Given the description of an element on the screen output the (x, y) to click on. 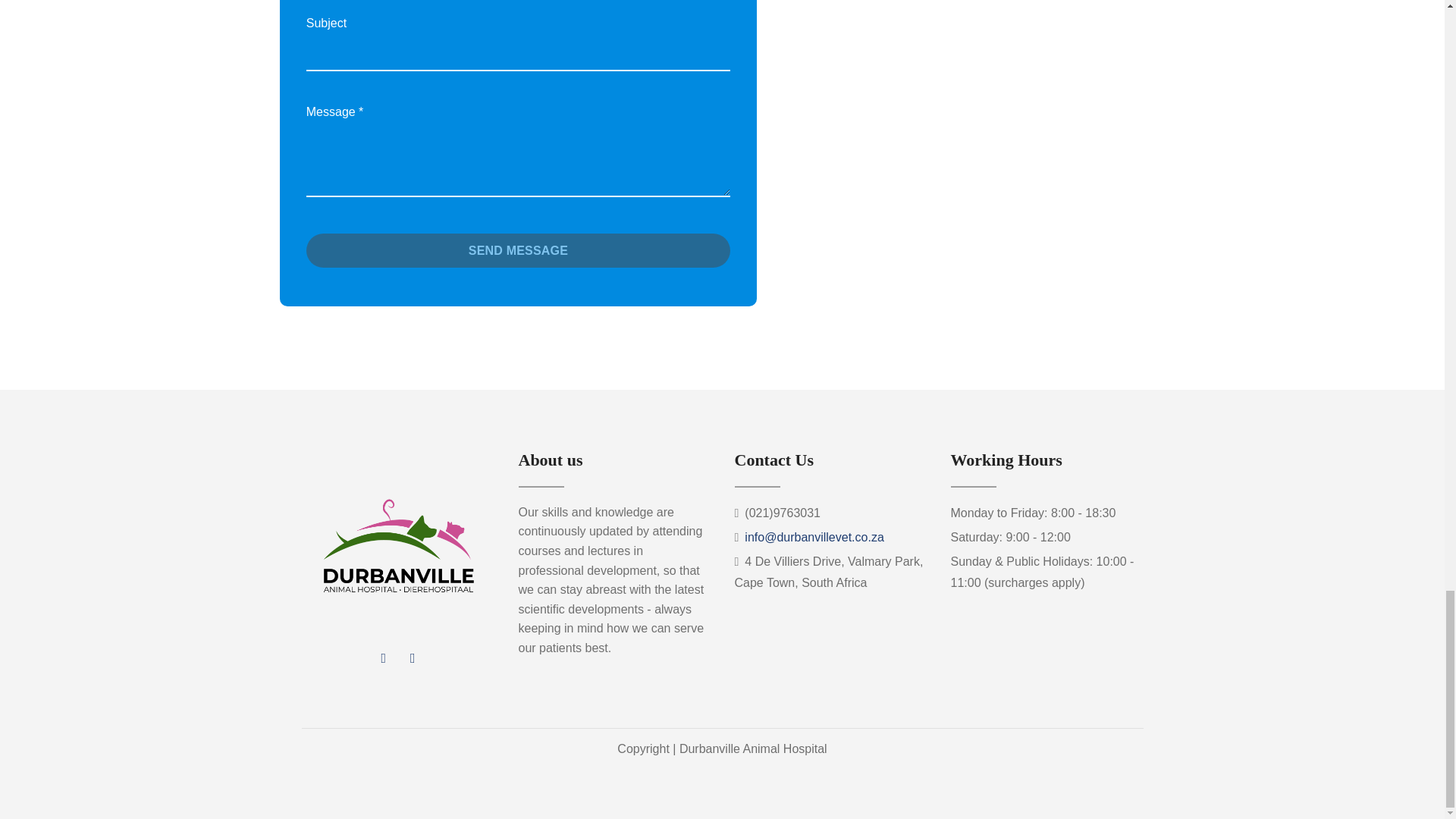
Send message (517, 250)
Send message (517, 250)
Instagram (411, 658)
Facebook (383, 658)
